Given the description of an element on the screen output the (x, y) to click on. 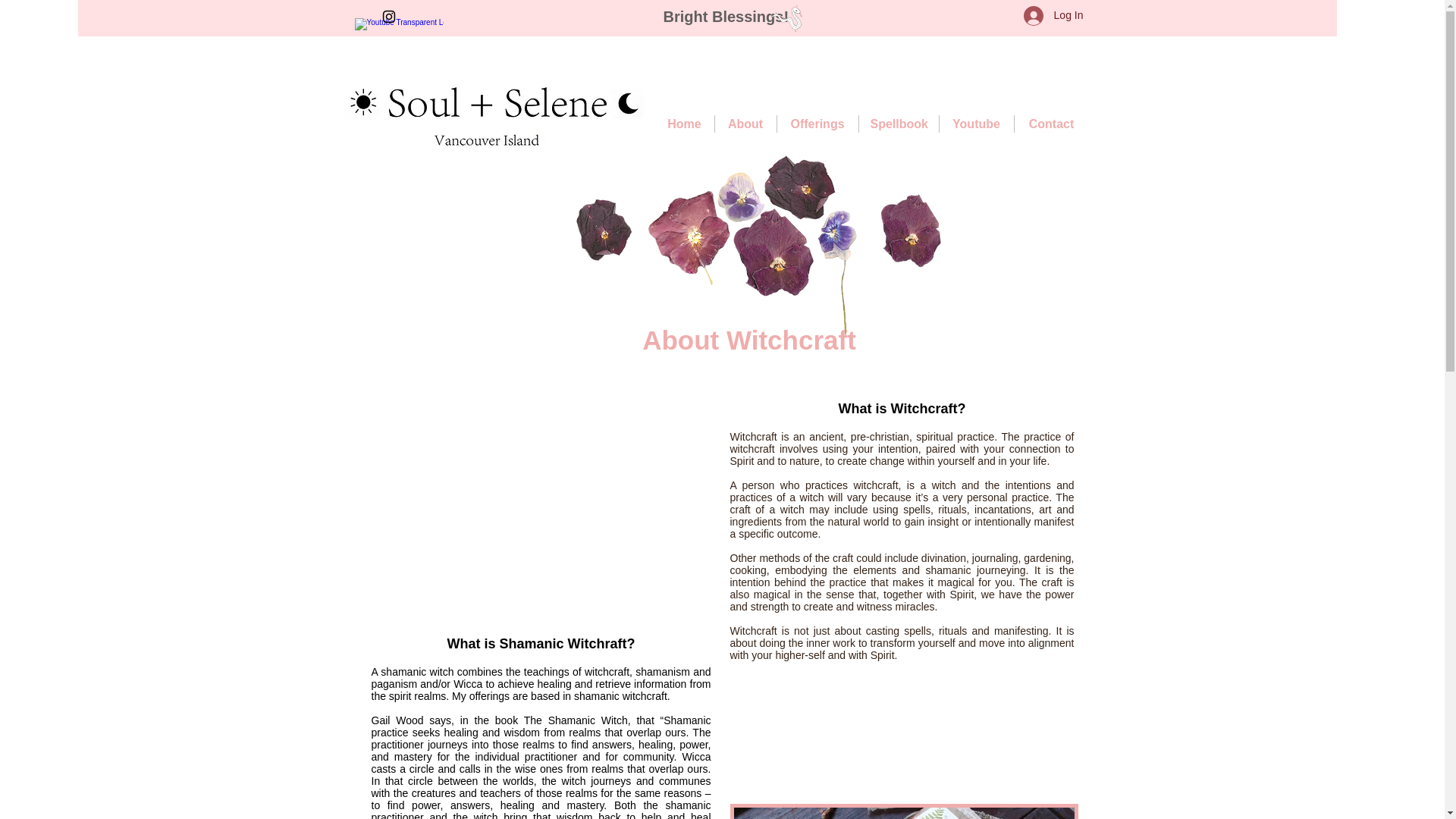
Log In (1053, 15)
Spellbook (899, 123)
Contact (1050, 123)
Home (684, 123)
Youtube (976, 123)
